Given the description of an element on the screen output the (x, y) to click on. 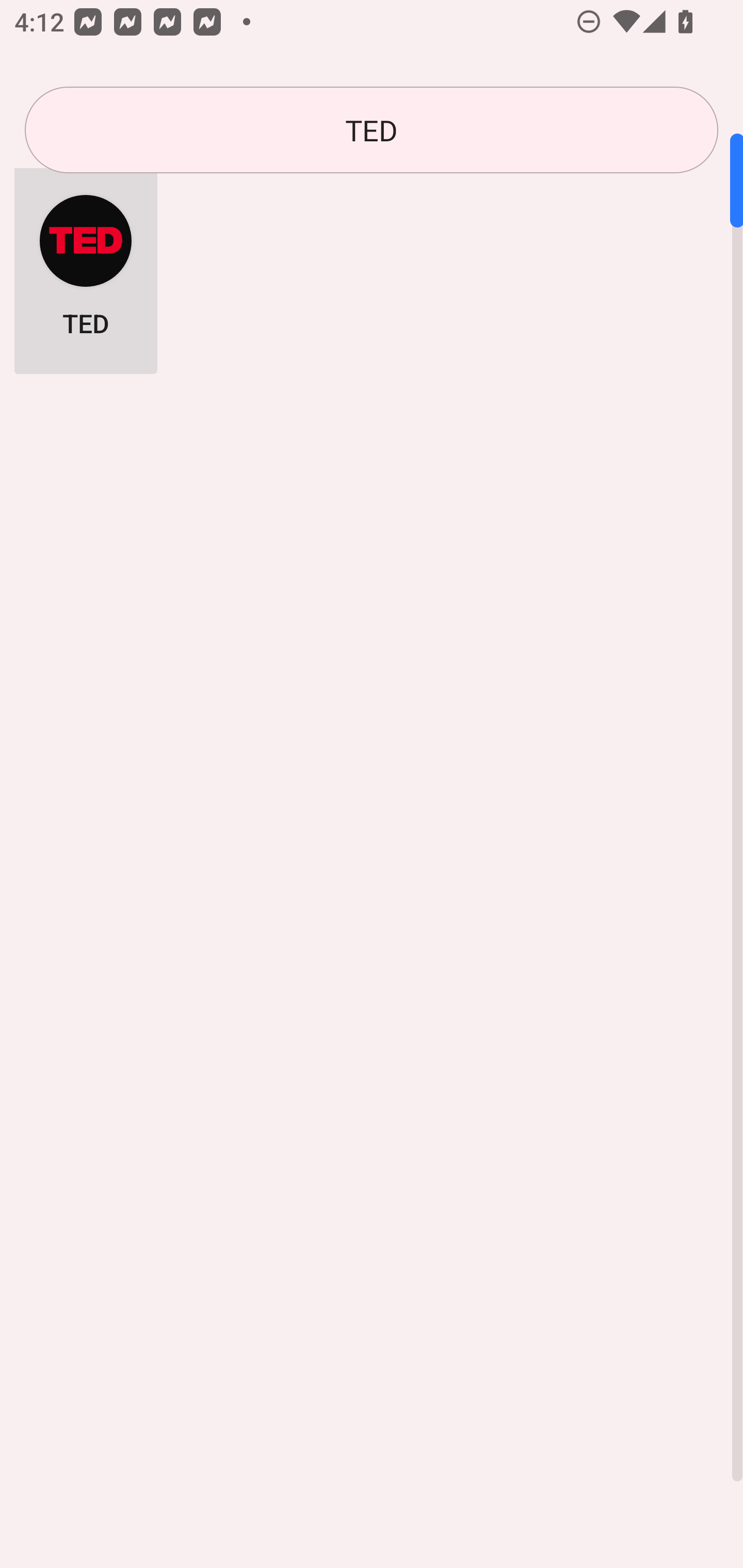
TED (371, 130)
TED (85, 264)
